Given the description of an element on the screen output the (x, y) to click on. 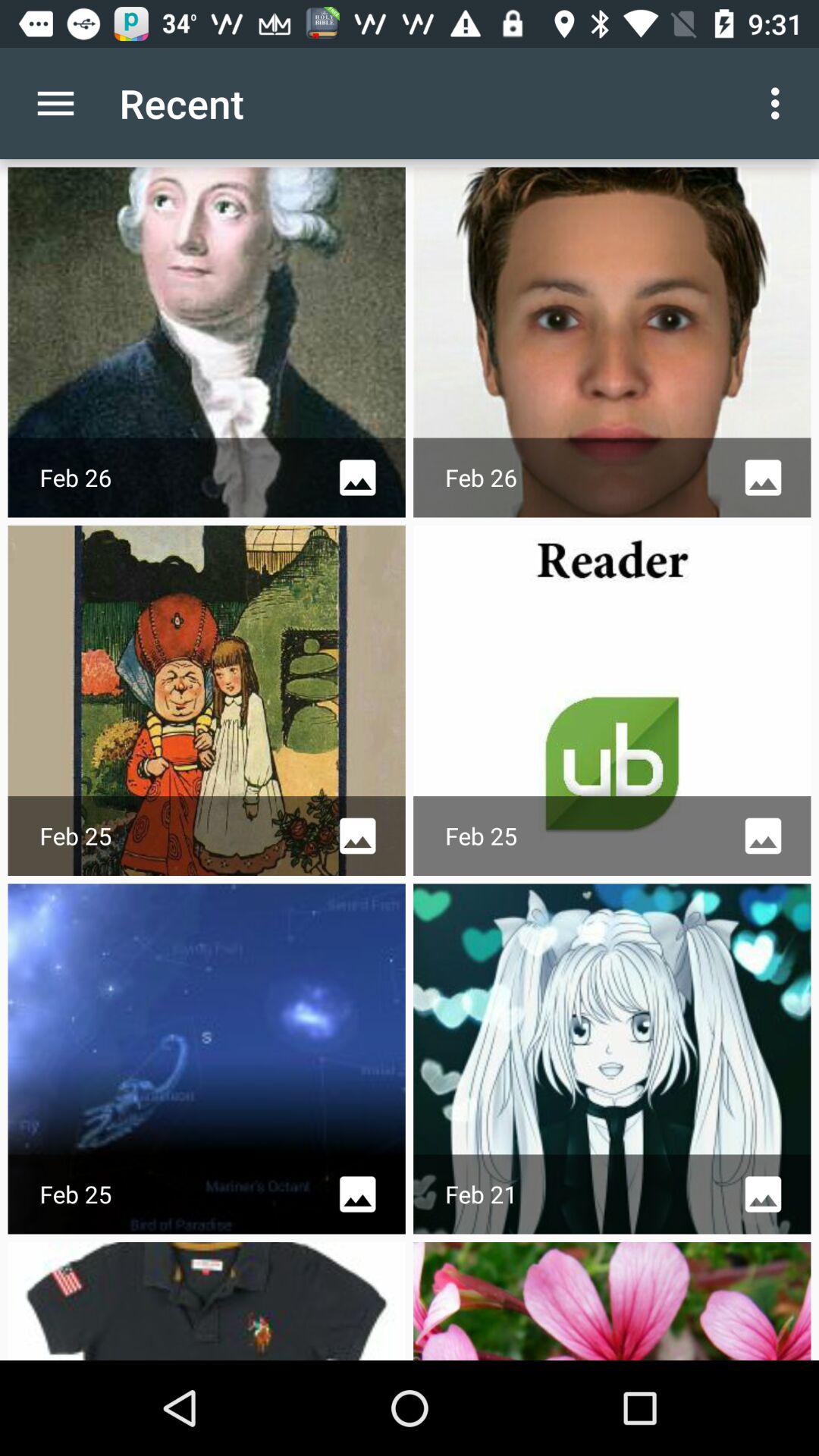
turn on the app next to the recent (55, 103)
